Given the description of an element on the screen output the (x, y) to click on. 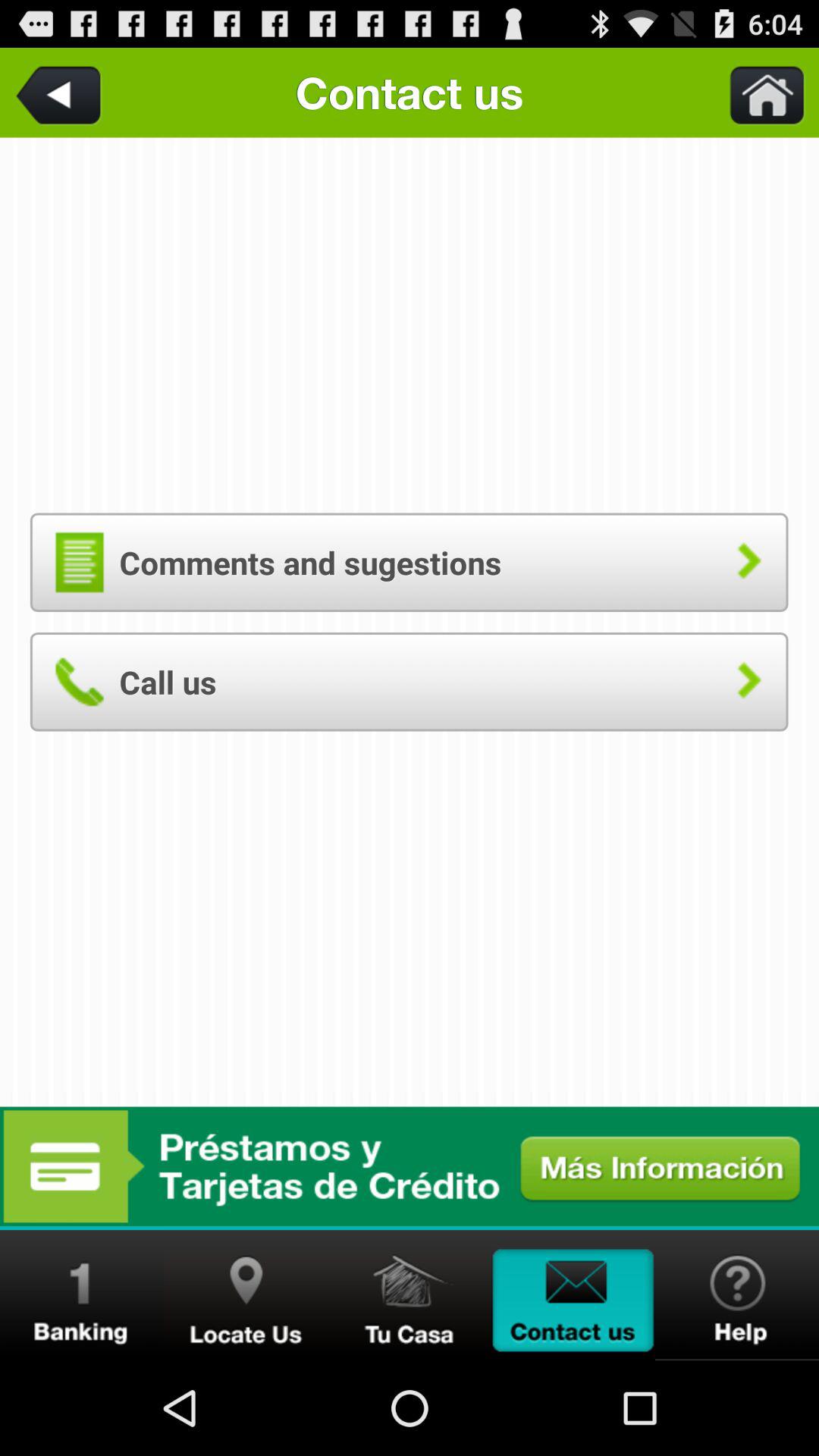
click icon below call us item (409, 1166)
